Given the description of an element on the screen output the (x, y) to click on. 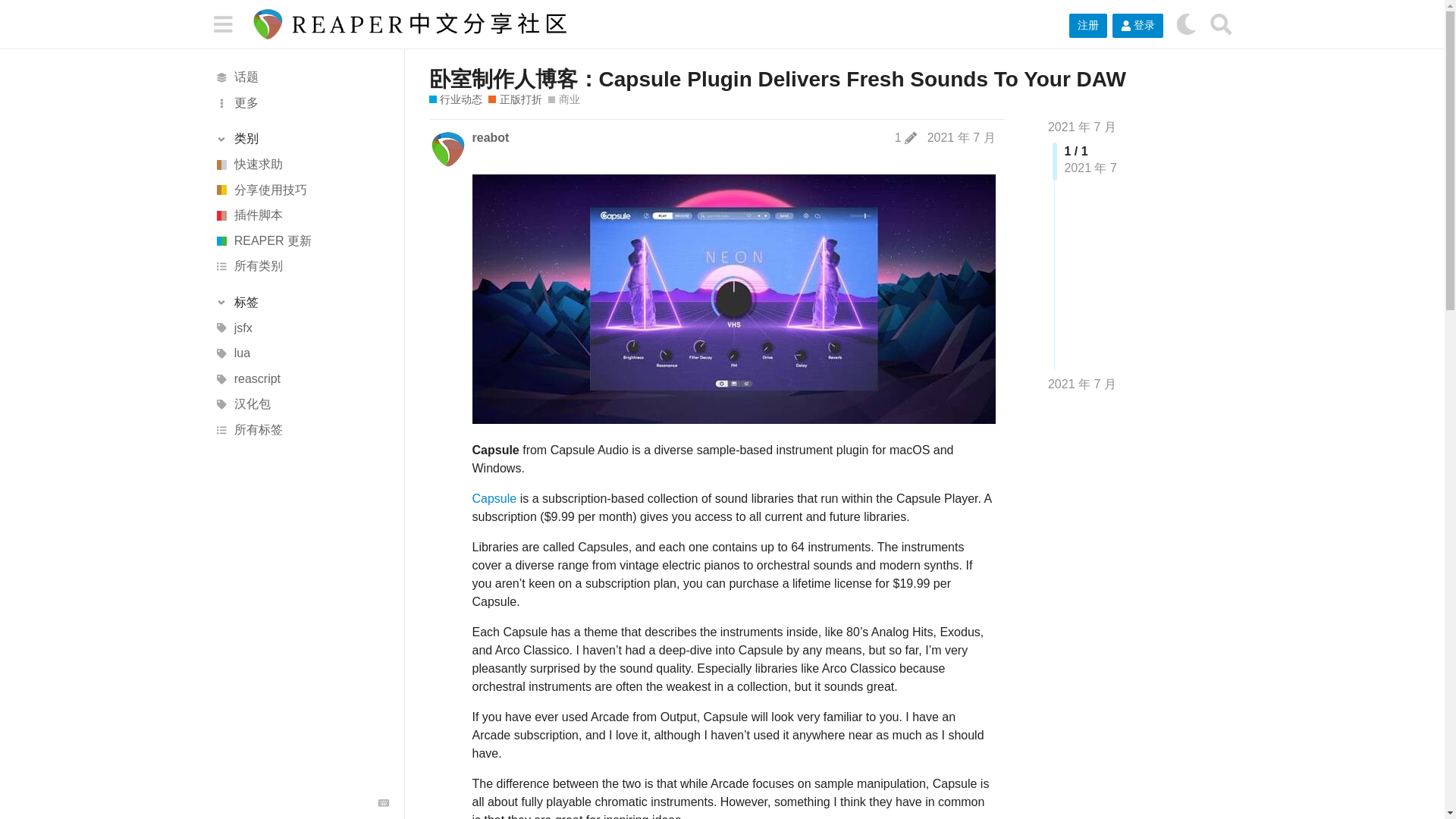
1 (905, 137)
Capsule (493, 498)
reascript (301, 379)
reabot (489, 137)
lua (301, 353)
jsfx (301, 328)
